Given the description of an element on the screen output the (x, y) to click on. 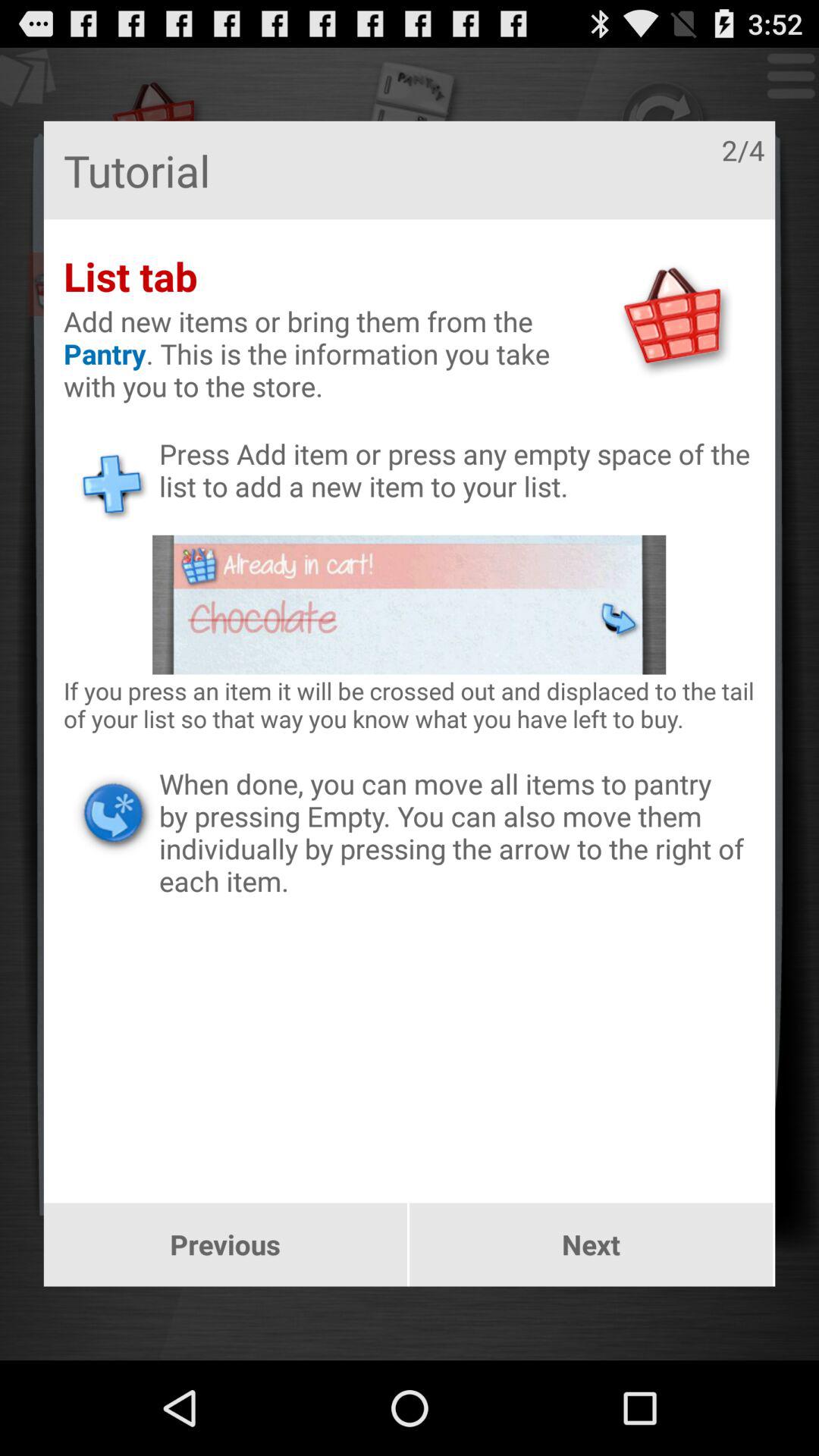
open button next to previous (590, 1244)
